Given the description of an element on the screen output the (x, y) to click on. 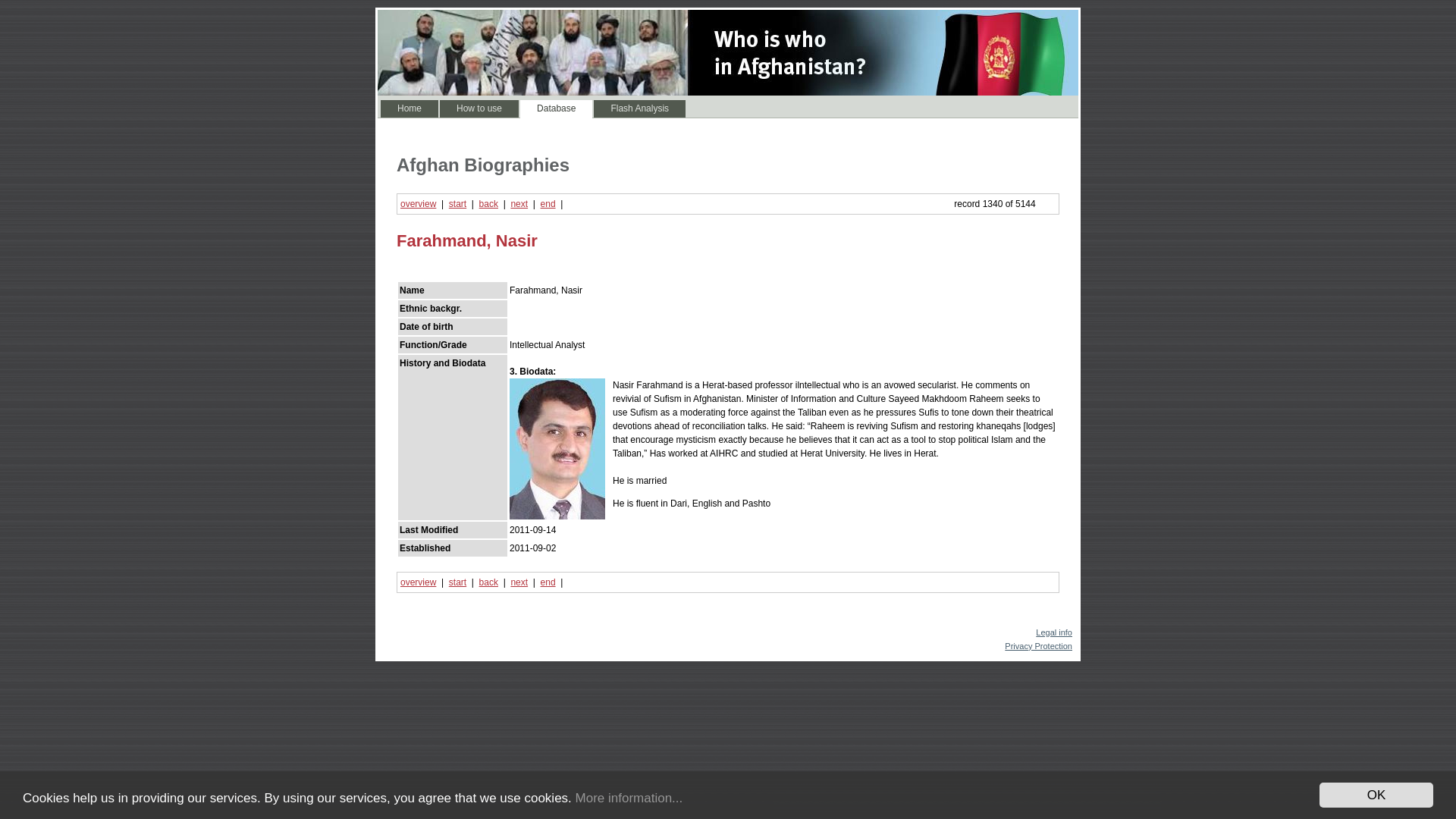
start (456, 204)
Privacy Protection (1037, 645)
How to use (478, 108)
overview (417, 582)
end (548, 204)
Home (409, 108)
back (488, 582)
start (456, 582)
Database (555, 108)
next (519, 582)
